Given the description of an element on the screen output the (x, y) to click on. 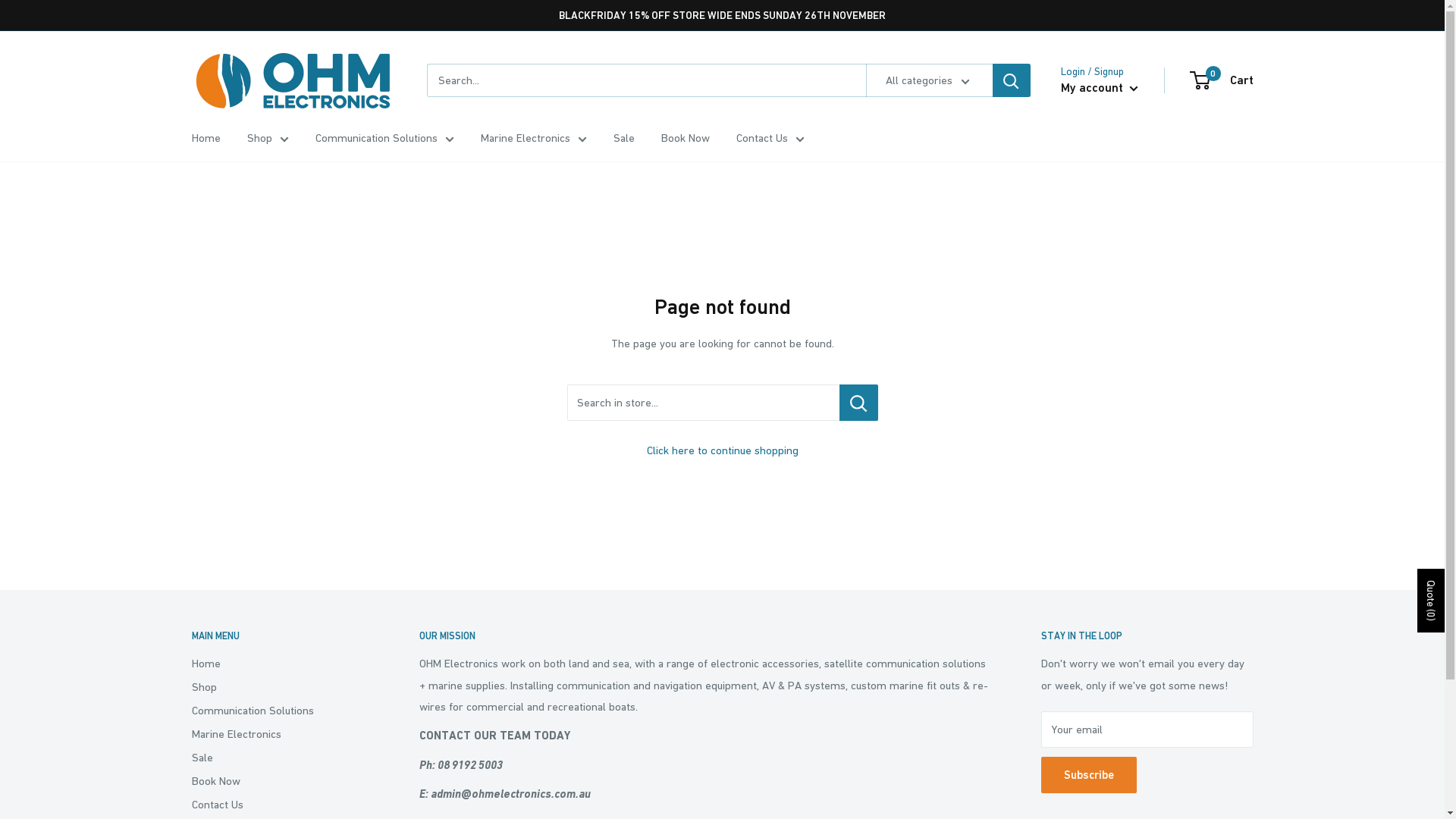
AD Element type: text (191, 731)
AR Element type: text (191, 807)
0
Cart Element type: text (1221, 80)
OUR MISSION Element type: text (702, 635)
Click here to continue shopping Element type: text (721, 449)
Communication Solutions Element type: text (384, 137)
Sale Element type: text (622, 137)
Communication Solutions Element type: text (278, 709)
Marine Electronics Element type: text (278, 733)
AL Element type: text (191, 693)
Contact Us Element type: text (769, 137)
Sale Element type: text (278, 756)
AI Element type: text (191, 769)
Shop Element type: text (278, 686)
Book Now Element type: text (278, 780)
Home Element type: text (278, 662)
Marine Electronics Element type: text (533, 137)
BLACKFRIDAY 15% OFF STORE WIDE ENDS SUNDAY 26TH NOVEMBER Element type: text (721, 15)
AX Element type: text (191, 674)
DZ Element type: text (191, 712)
Book Now Element type: text (685, 137)
Subscribe Element type: text (1087, 774)
AG Element type: text (191, 788)
Contact Us Element type: text (278, 803)
Shop Element type: text (267, 137)
MAIN MENU Element type: text (278, 635)
Home Element type: text (205, 137)
AF Element type: text (191, 654)
AO Element type: text (191, 750)
OHM Electronics Element type: text (293, 80)
My account Element type: text (1098, 87)
